Given the description of an element on the screen output the (x, y) to click on. 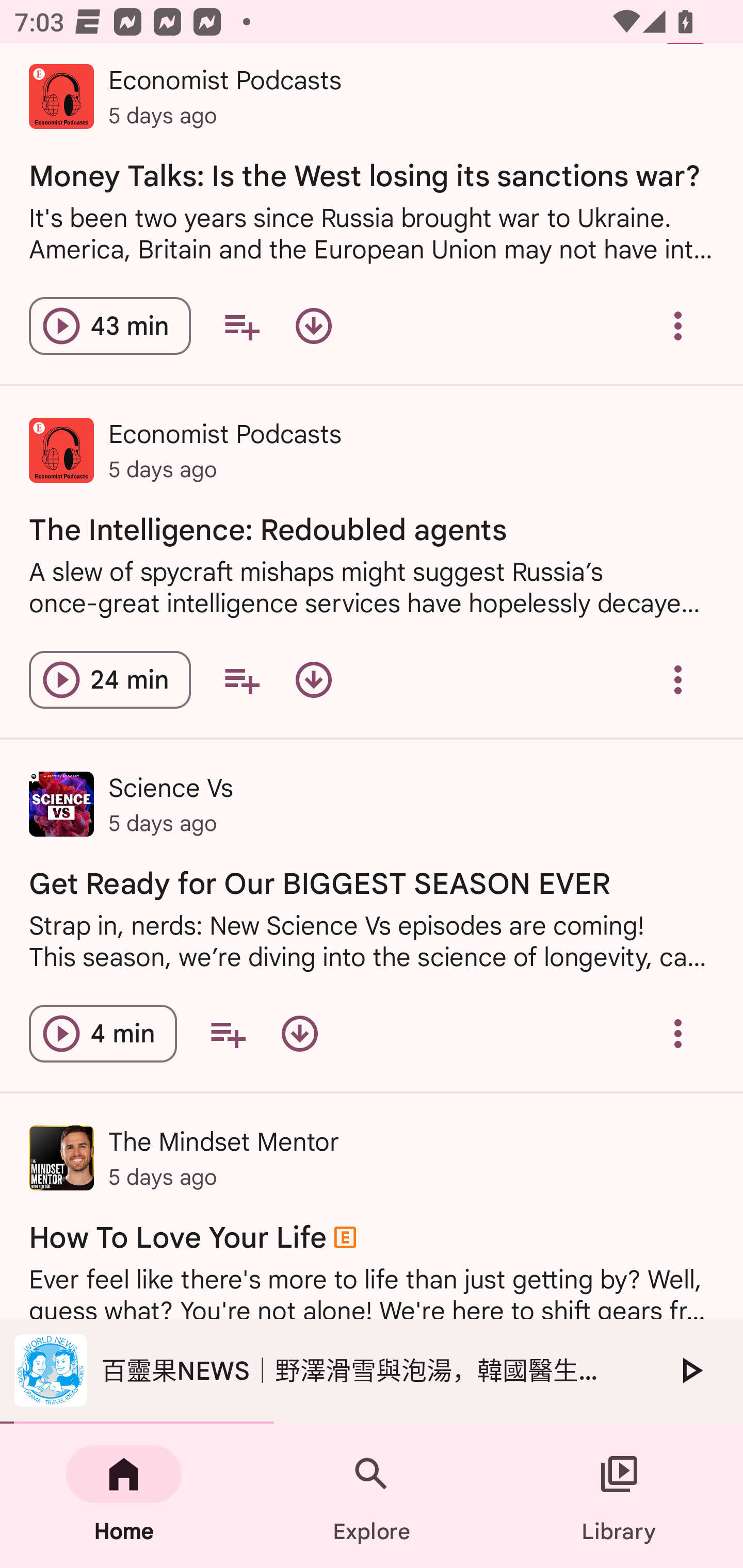
Add to your queue (241, 326)
Download episode (313, 326)
Overflow menu (677, 326)
Add to your queue (241, 679)
Download episode (313, 679)
Overflow menu (677, 679)
Add to your queue (227, 1033)
Download episode (299, 1033)
Overflow menu (677, 1033)
Play (690, 1370)
Explore (371, 1495)
Library (619, 1495)
